Given the description of an element on the screen output the (x, y) to click on. 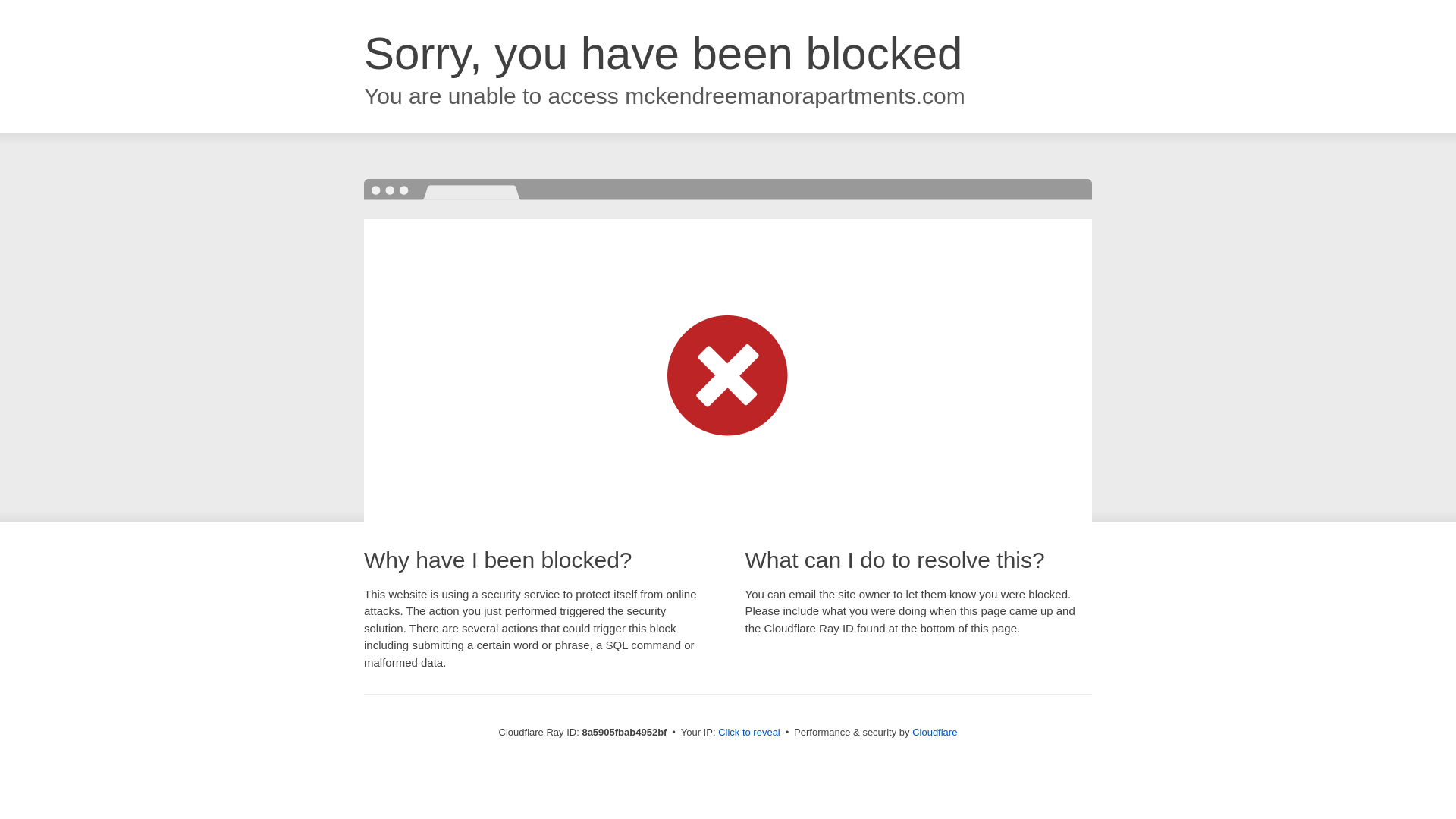
Click to reveal (748, 732)
Cloudflare (934, 731)
